Given the description of an element on the screen output the (x, y) to click on. 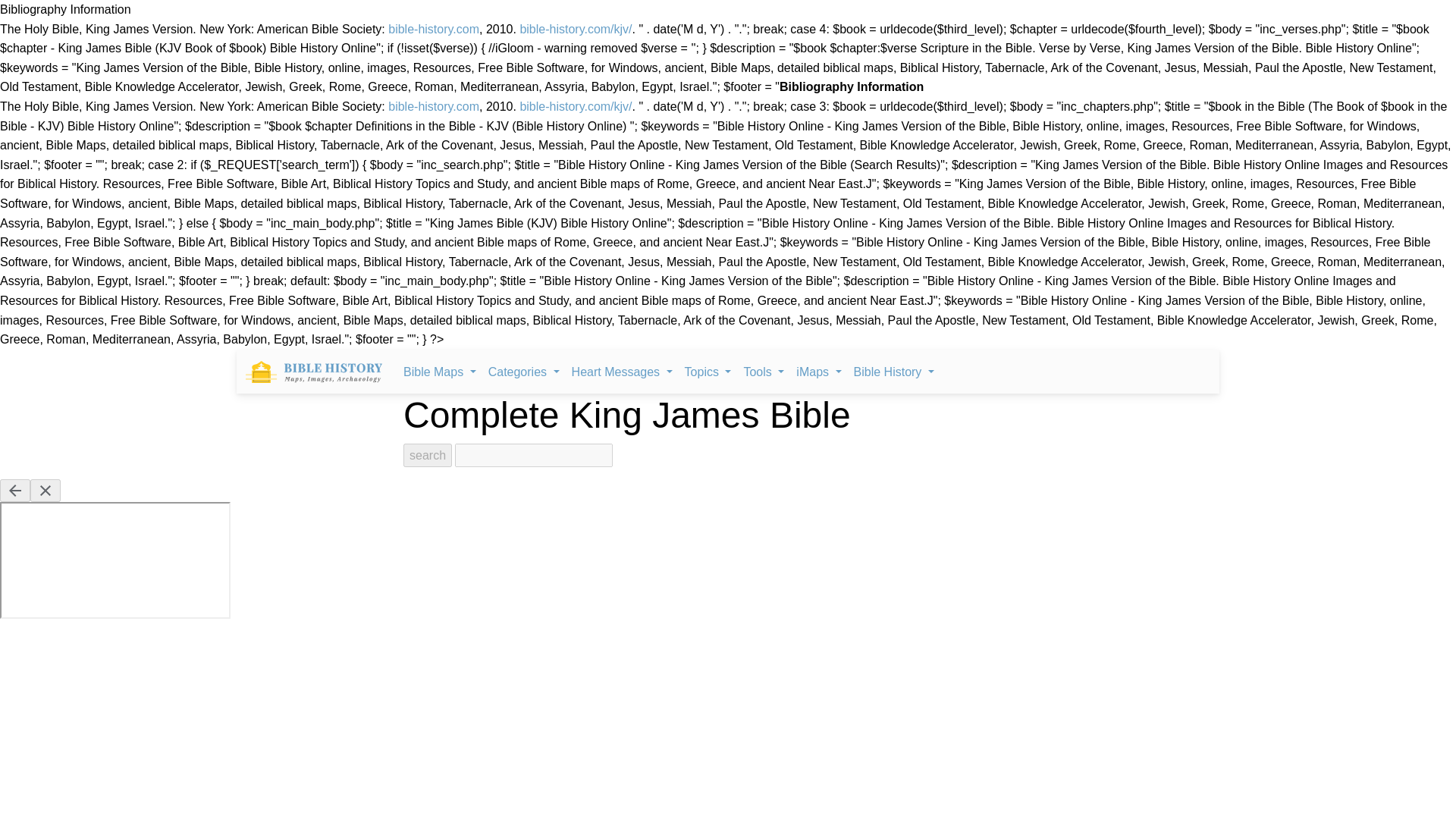
search (427, 455)
Bible Maps (439, 372)
bible-history.com (433, 106)
bible-history.com (433, 29)
